Given the description of an element on the screen output the (x, y) to click on. 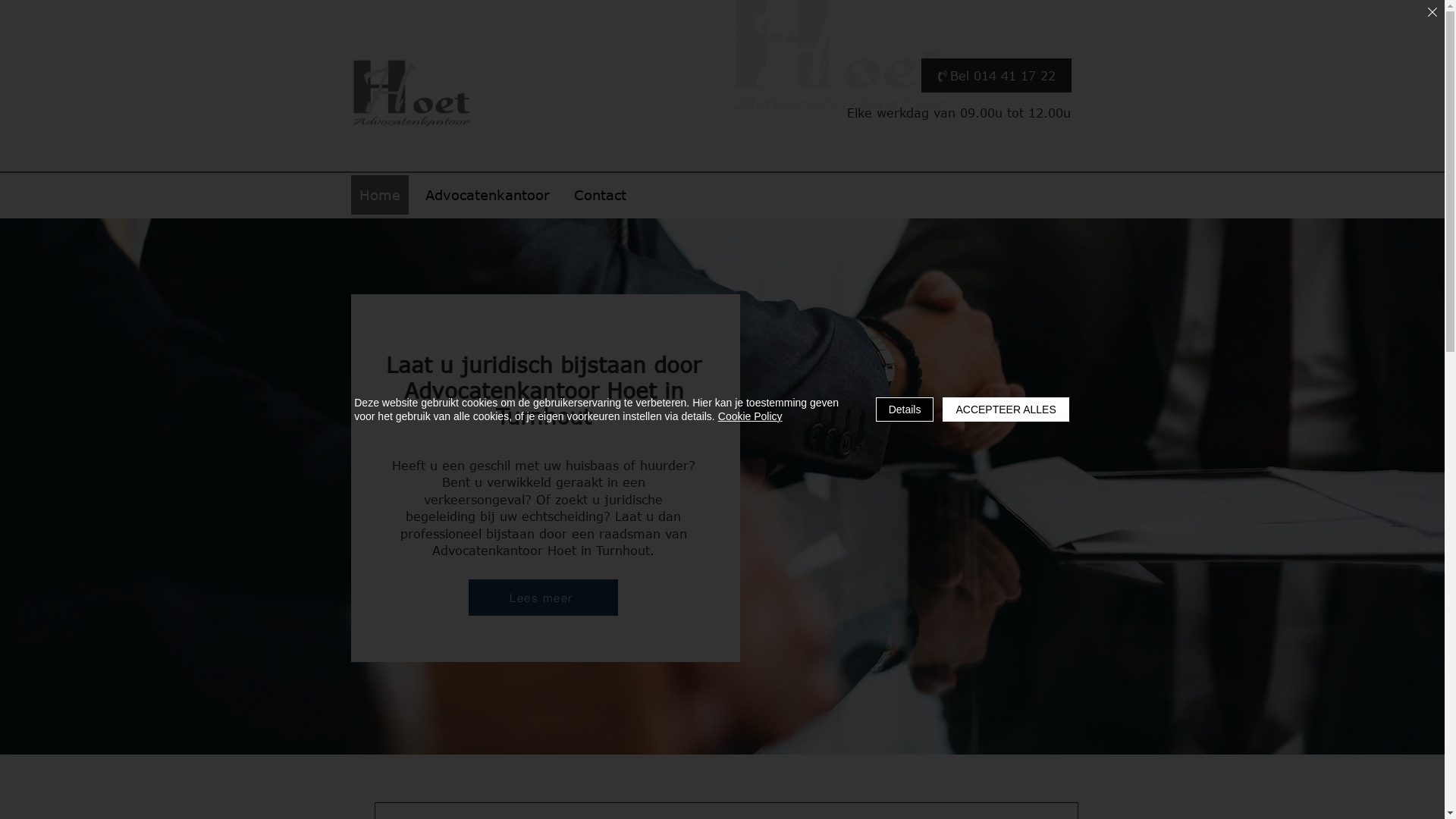
Lees meer Element type: text (543, 597)
Details Element type: text (904, 409)
ACCEPTEER ALLES Element type: text (1005, 409)
Advocatenkantoor Element type: text (487, 194)
Cookie Policy Element type: text (750, 416)
 Hoet Advocatenkantoor Element type: hover (411, 90)
Bel 014 41 17 22 Element type: text (995, 75)
Home Element type: text (379, 194)
Contact Element type: text (600, 194)
